Given the description of an element on the screen output the (x, y) to click on. 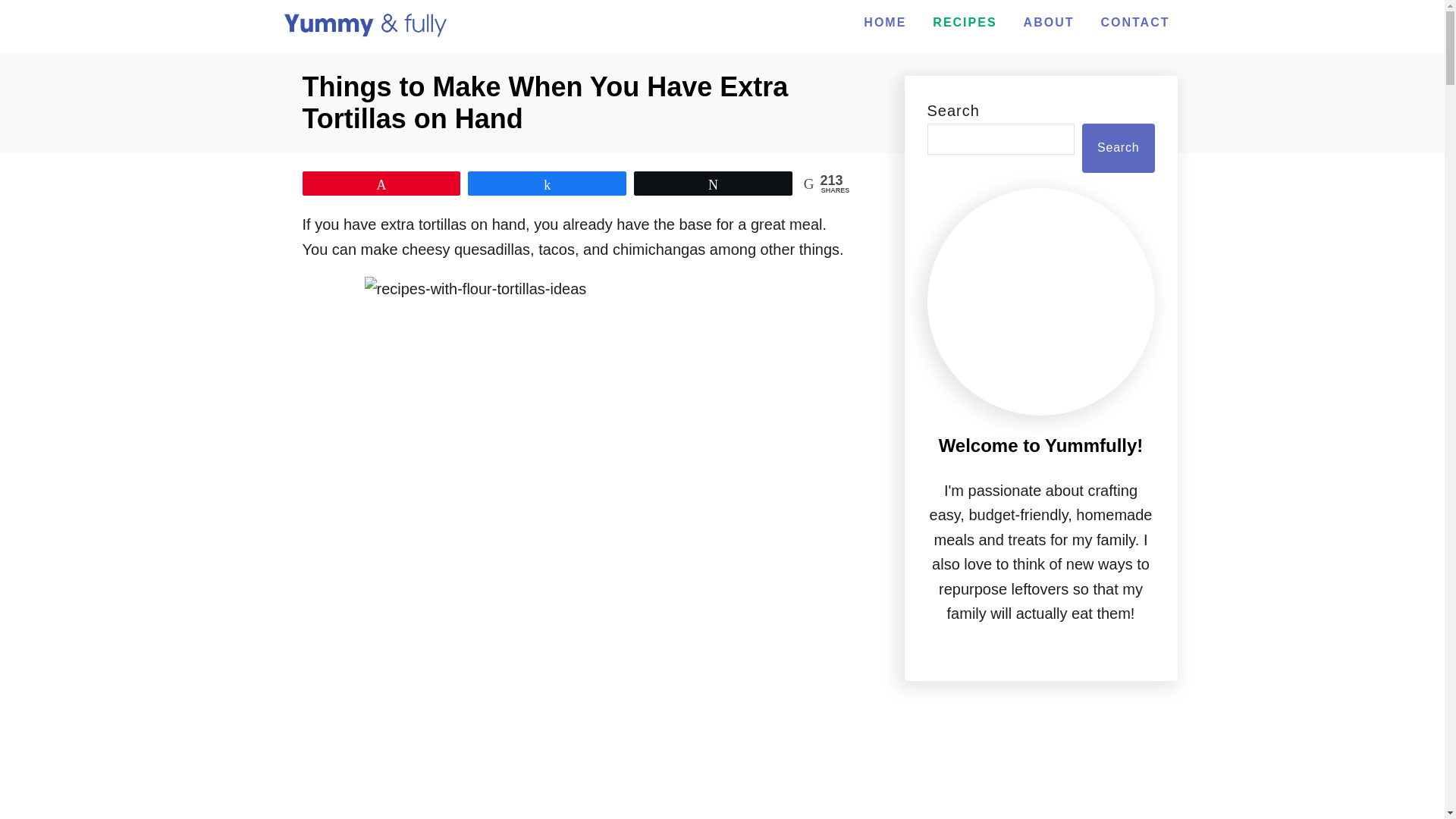
RECIPES (964, 22)
CONTACT (1134, 22)
Search (1117, 146)
HOME (885, 22)
ABOUT (1048, 22)
Yummy and fully (364, 26)
